Given the description of an element on the screen output the (x, y) to click on. 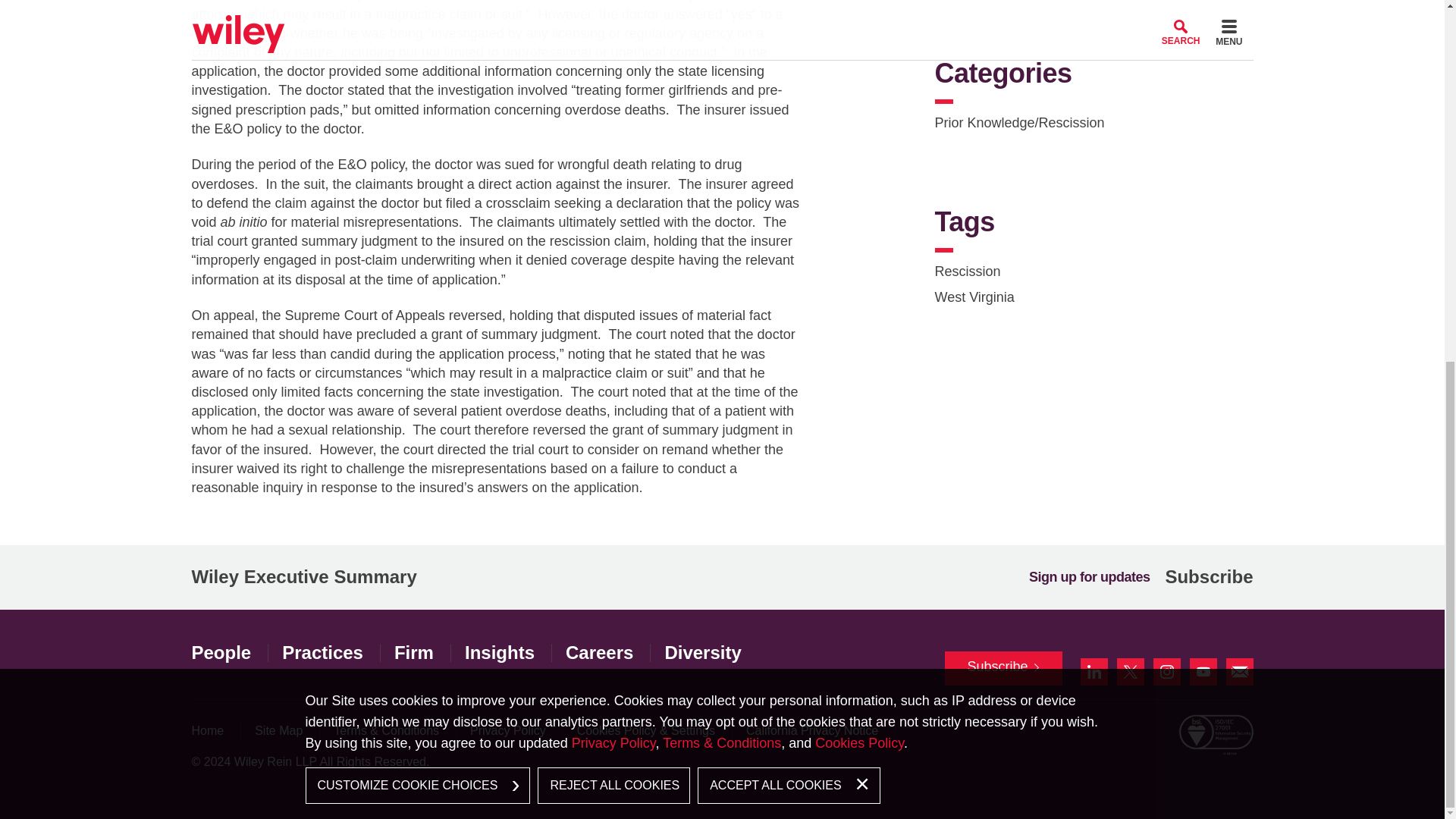
Contact Us (1238, 671)
